Given the description of an element on the screen output the (x, y) to click on. 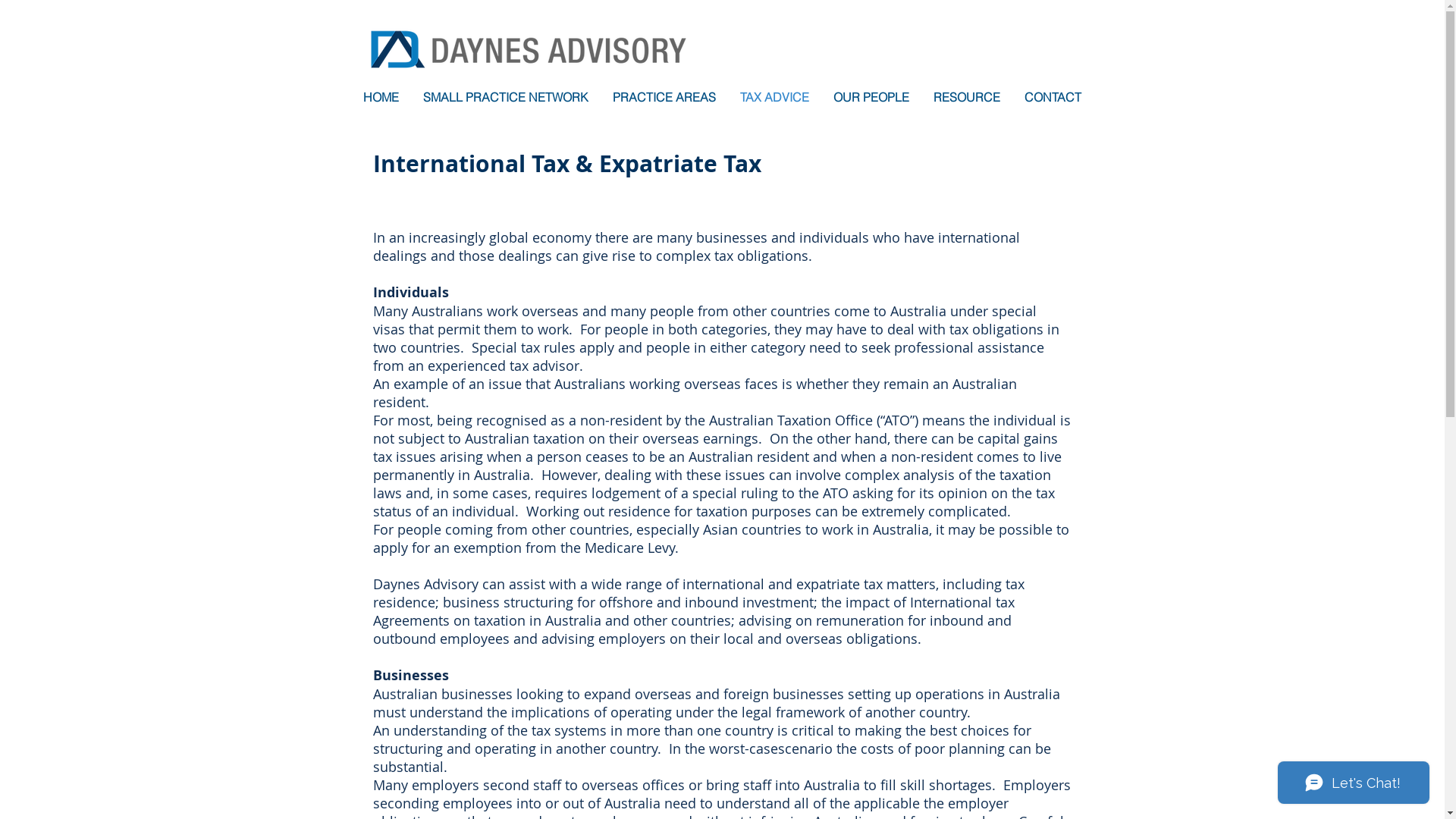
SMALL PRACTICE NETWORK Element type: text (505, 96)
OUR PEOPLE Element type: text (870, 96)
DaynesAdvisory  1.png Element type: hover (524, 55)
HOME Element type: text (380, 96)
TAX ADVICE Element type: text (774, 96)
PRACTICE AREAS Element type: text (664, 96)
Site Search Element type: hover (990, 53)
CONTACT Element type: text (1051, 96)
